Given the description of an element on the screen output the (x, y) to click on. 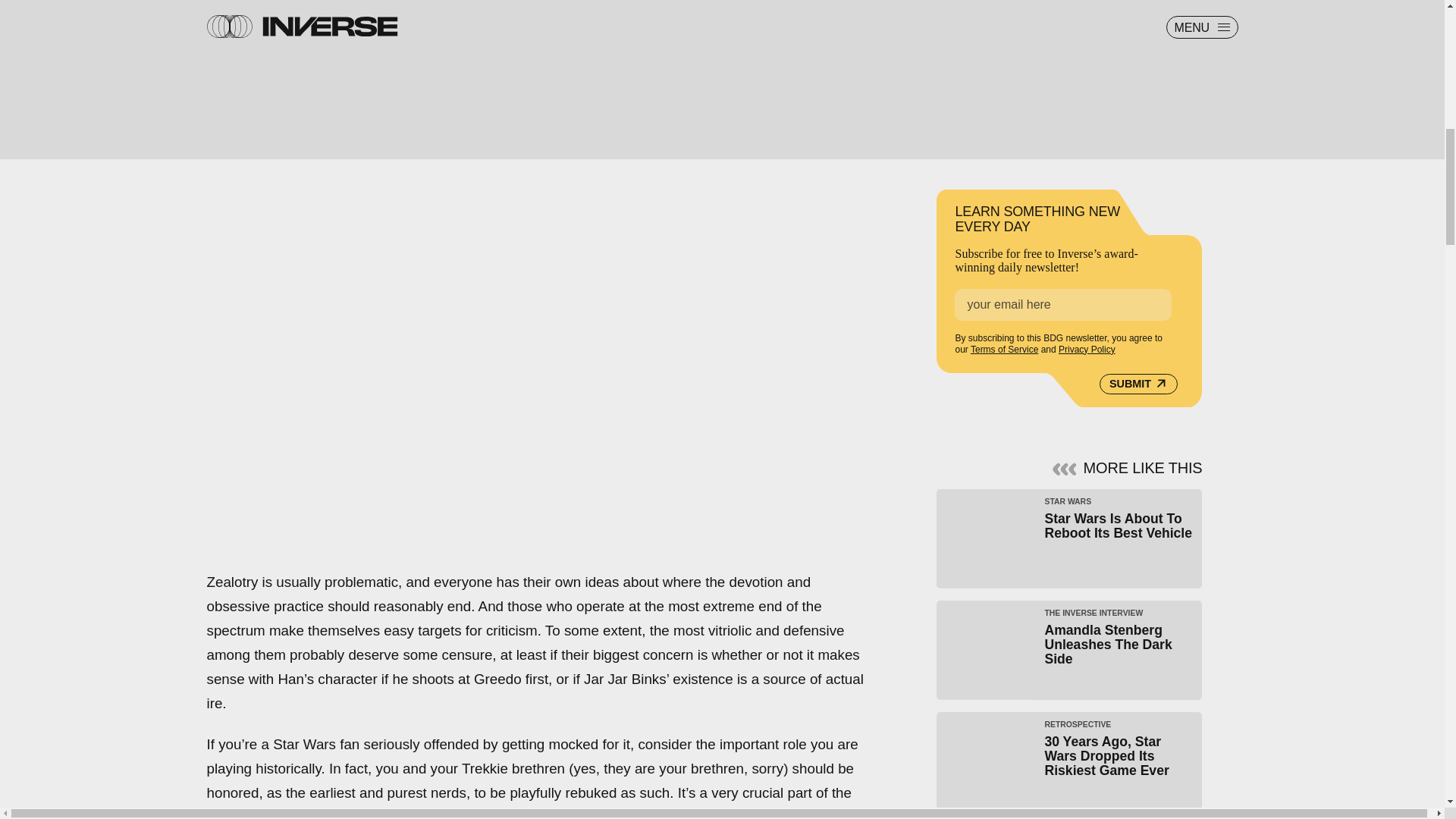
Terms of Service (1004, 348)
SUBMIT (1138, 382)
Privacy Policy (1069, 538)
